Given the description of an element on the screen output the (x, y) to click on. 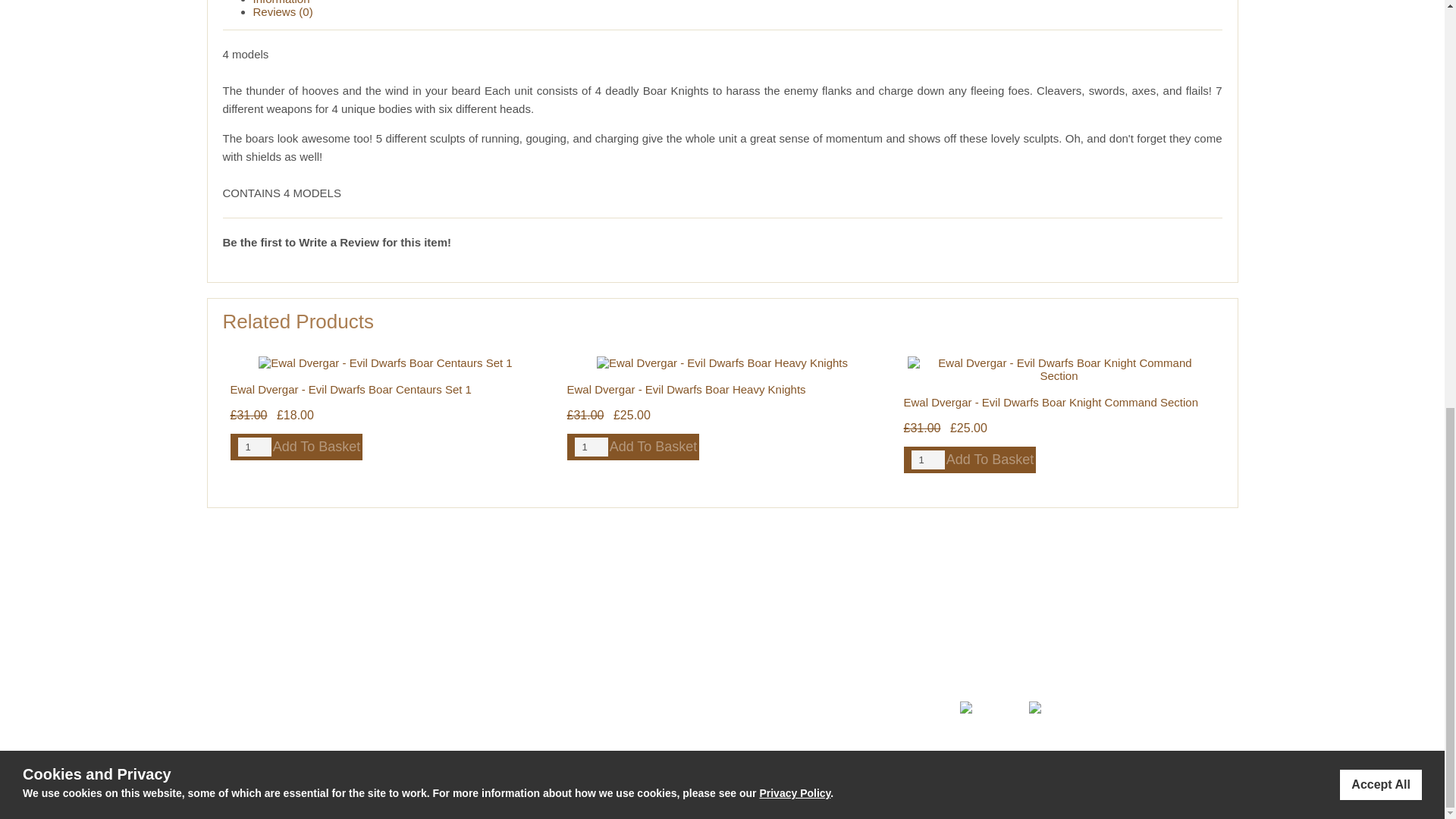
1 (254, 446)
1 (591, 446)
Add To Basket (316, 447)
Go Top (220, 652)
Add To Basket (653, 447)
Site Map (226, 698)
1 (927, 459)
All Products (234, 667)
Affiliates (474, 678)
About Us (475, 663)
Ewal Dvergar - Evil Dwarfs Boar Heavy Knights (686, 389)
Ewal Dvergar - Evil Dwarfs Boar Knight Command Section (1051, 401)
Write a Review (338, 241)
Add To Basket (989, 459)
Information (281, 2)
